Given the description of an element on the screen output the (x, y) to click on. 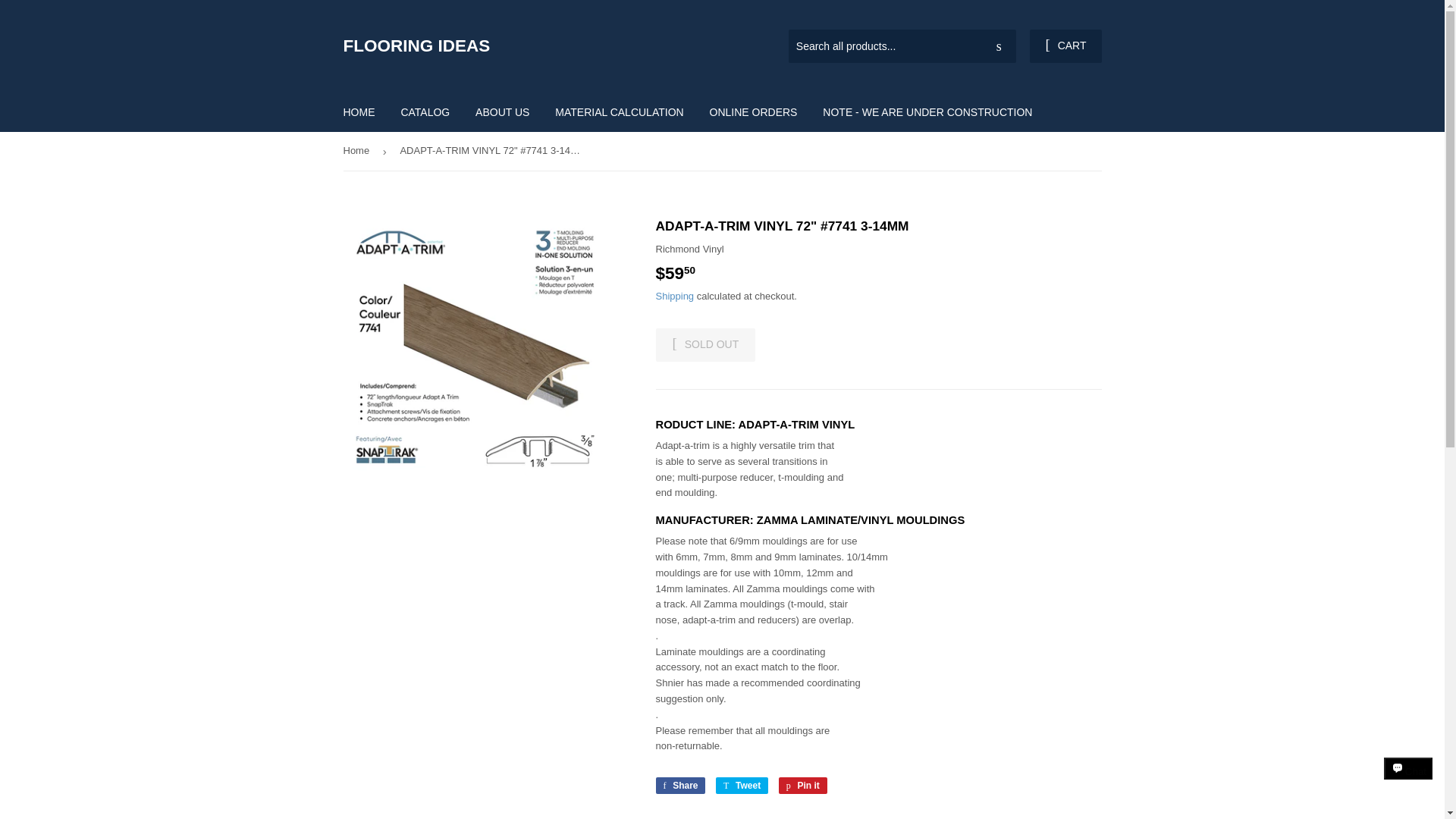
Shopify online store chat (1408, 781)
CATALOG (424, 111)
ABOUT US (502, 111)
Shipping (674, 296)
SOLD OUT (705, 344)
NOTE - WE ARE UNDER CONSTRUCTION (926, 111)
FLOORING IDEAS (532, 46)
ONLINE ORDERS (753, 111)
MATERIAL CALCULATION (618, 111)
Search (998, 47)
